Given the description of an element on the screen output the (x, y) to click on. 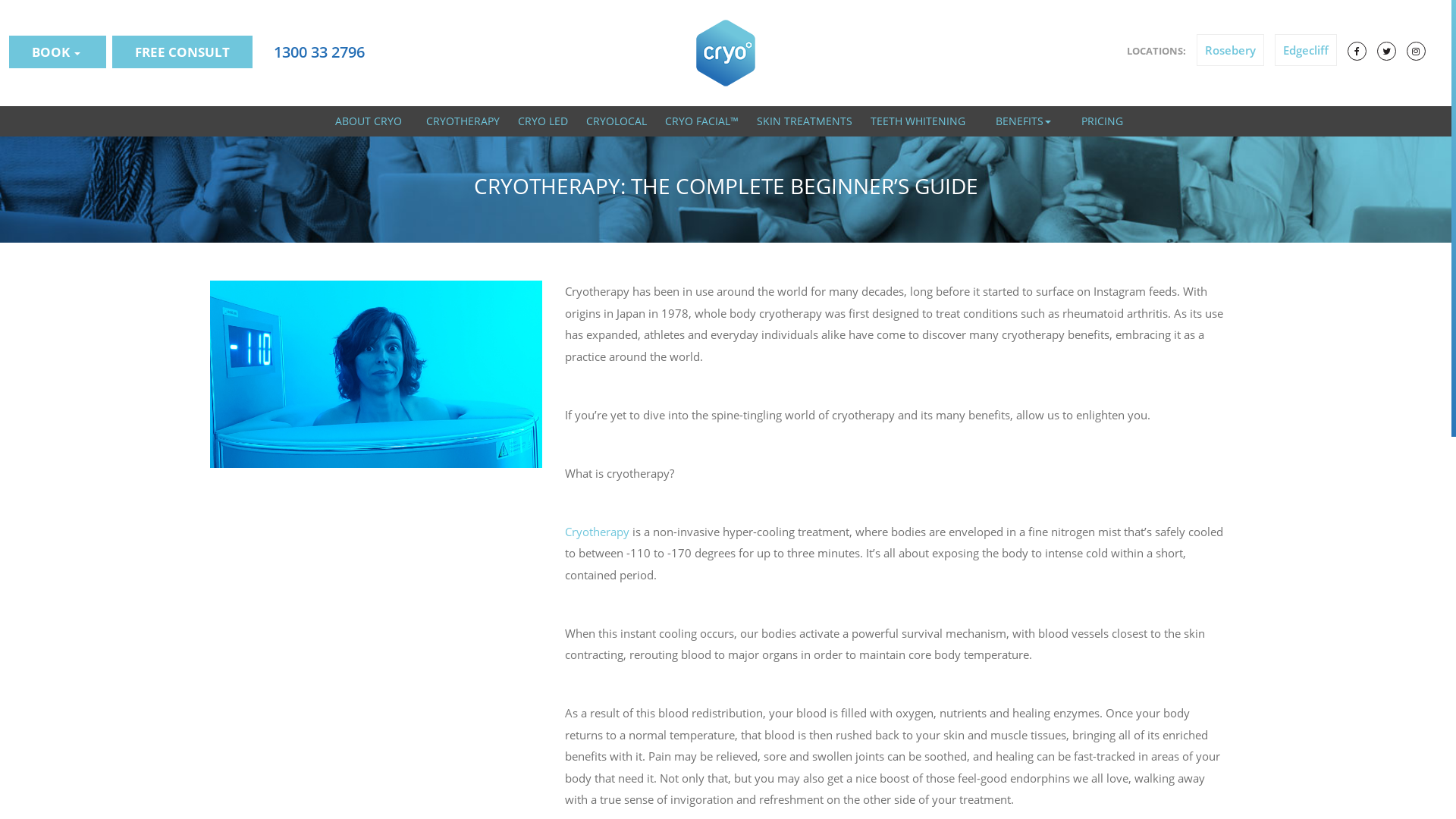
SKIN TREATMENTS Element type: text (804, 121)
FREE CONSULT Element type: text (182, 51)
Cryotherapy Element type: text (596, 530)
Rosebery Element type: text (1230, 49)
ABOUT CRYO Element type: text (367, 121)
CRYOLOCAL Element type: text (616, 121)
1300 33 2796 Element type: text (315, 51)
Cryo Element type: hover (725, 53)
CRYOTHERAPY Element type: text (462, 121)
BENEFITS Element type: text (1022, 121)
Edgecliff Element type: text (1305, 49)
CRYO LED Element type: text (542, 121)
BOOK Element type: text (57, 51)
TEETH WHITENING Element type: text (917, 121)
PRICING Element type: text (1101, 121)
